Given the description of an element on the screen output the (x, y) to click on. 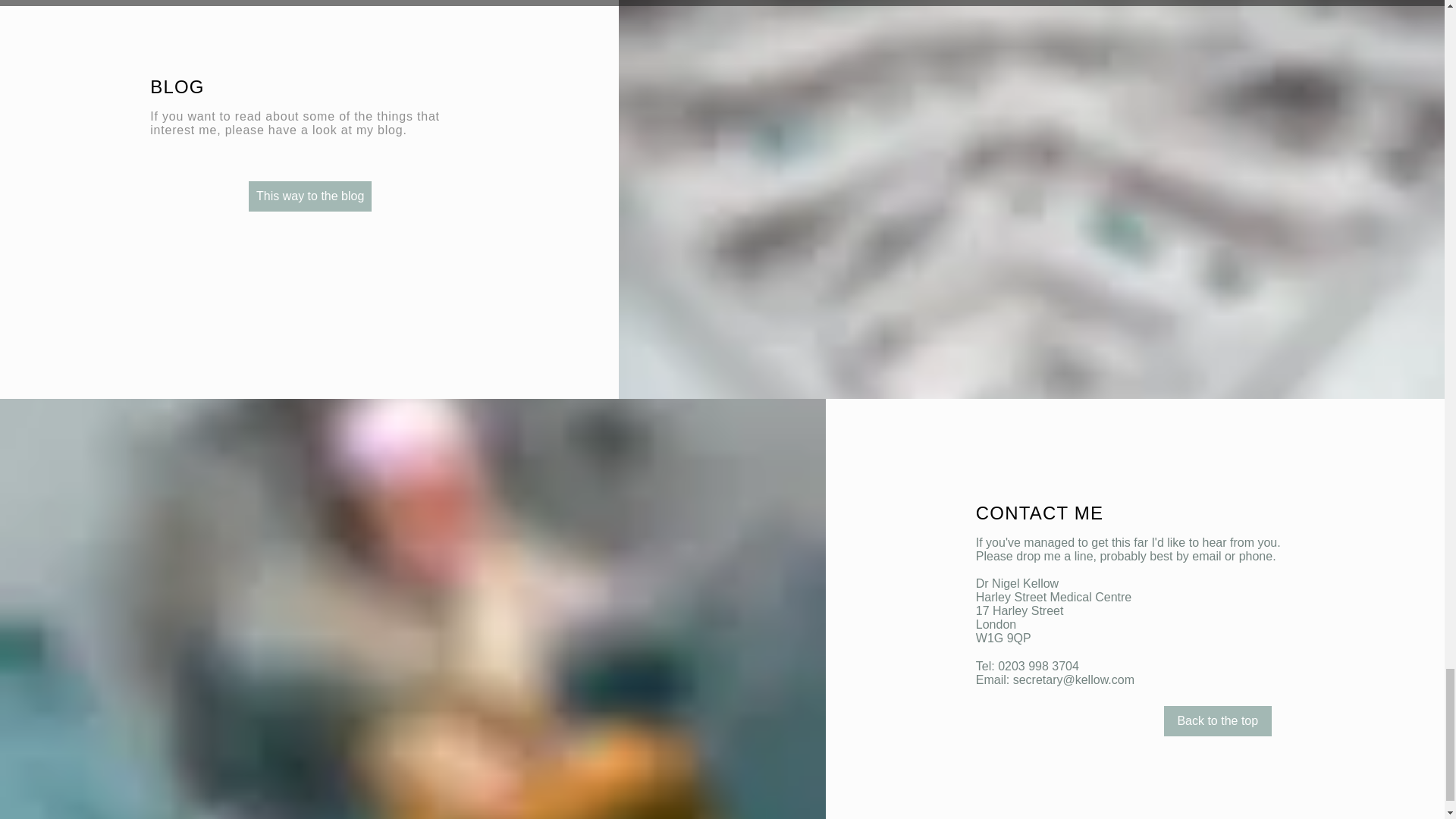
Back to the top (1217, 720)
